Given the description of an element on the screen output the (x, y) to click on. 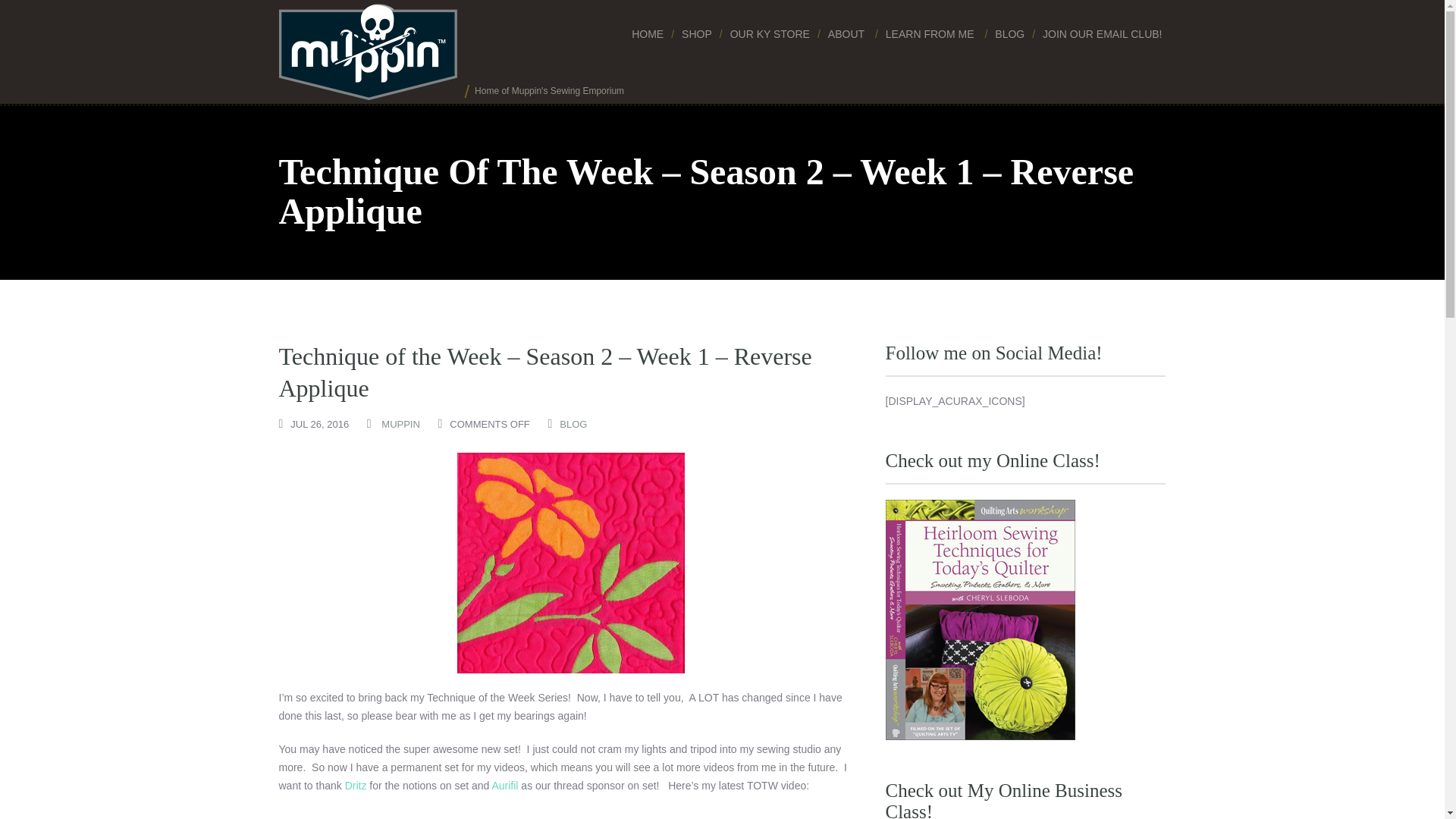
BLOG (1009, 21)
JOIN OUR EMAIL CLUB! (1101, 22)
Aurifil (505, 785)
Dritz (355, 785)
BLOG (572, 423)
LEARN FROM ME (929, 12)
View all posts by Muppin (400, 423)
MUPPIN (400, 423)
ABOUT (846, 1)
